Given the description of an element on the screen output the (x, y) to click on. 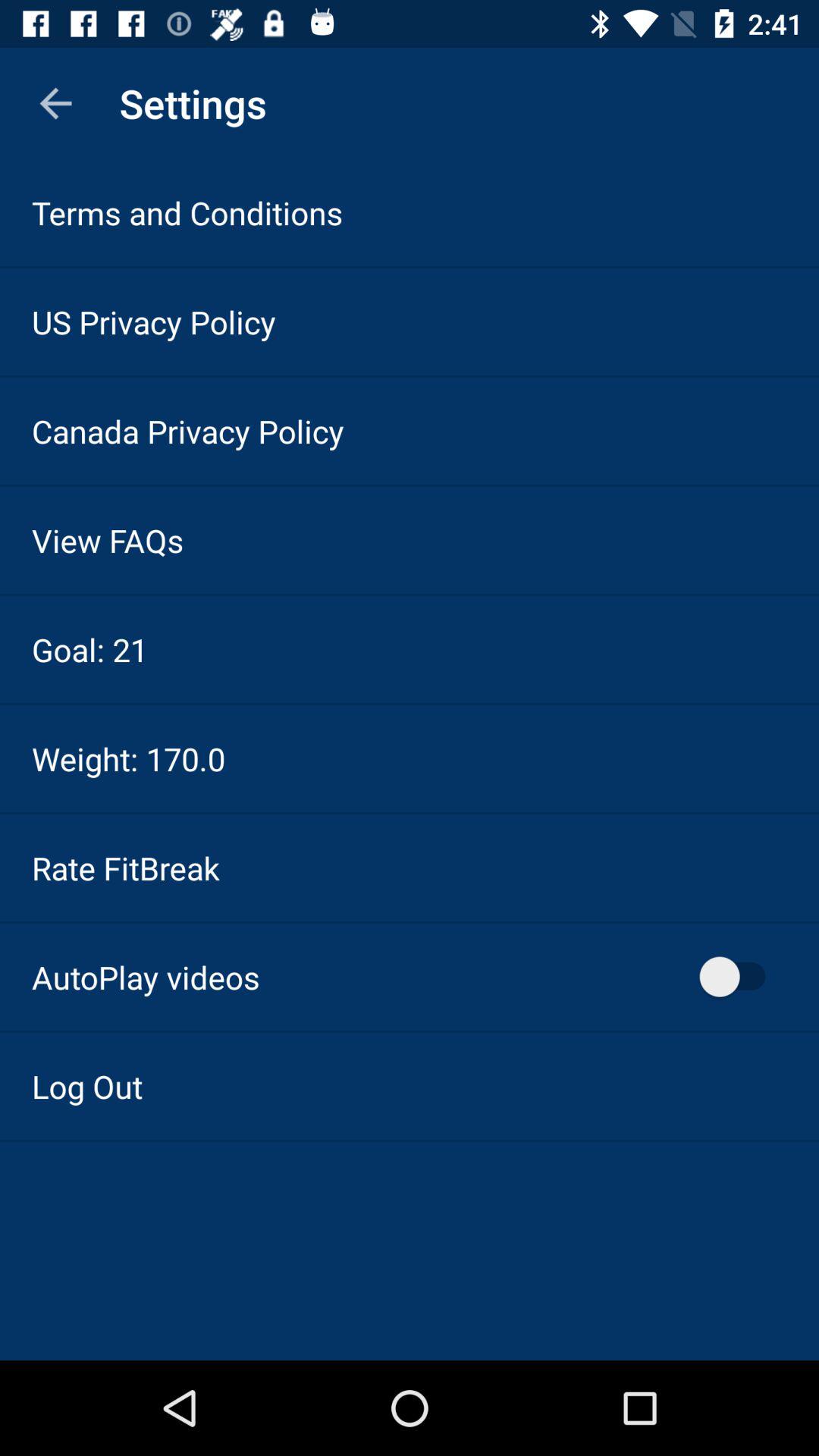
tap the log out item (86, 1085)
